Given the description of an element on the screen output the (x, y) to click on. 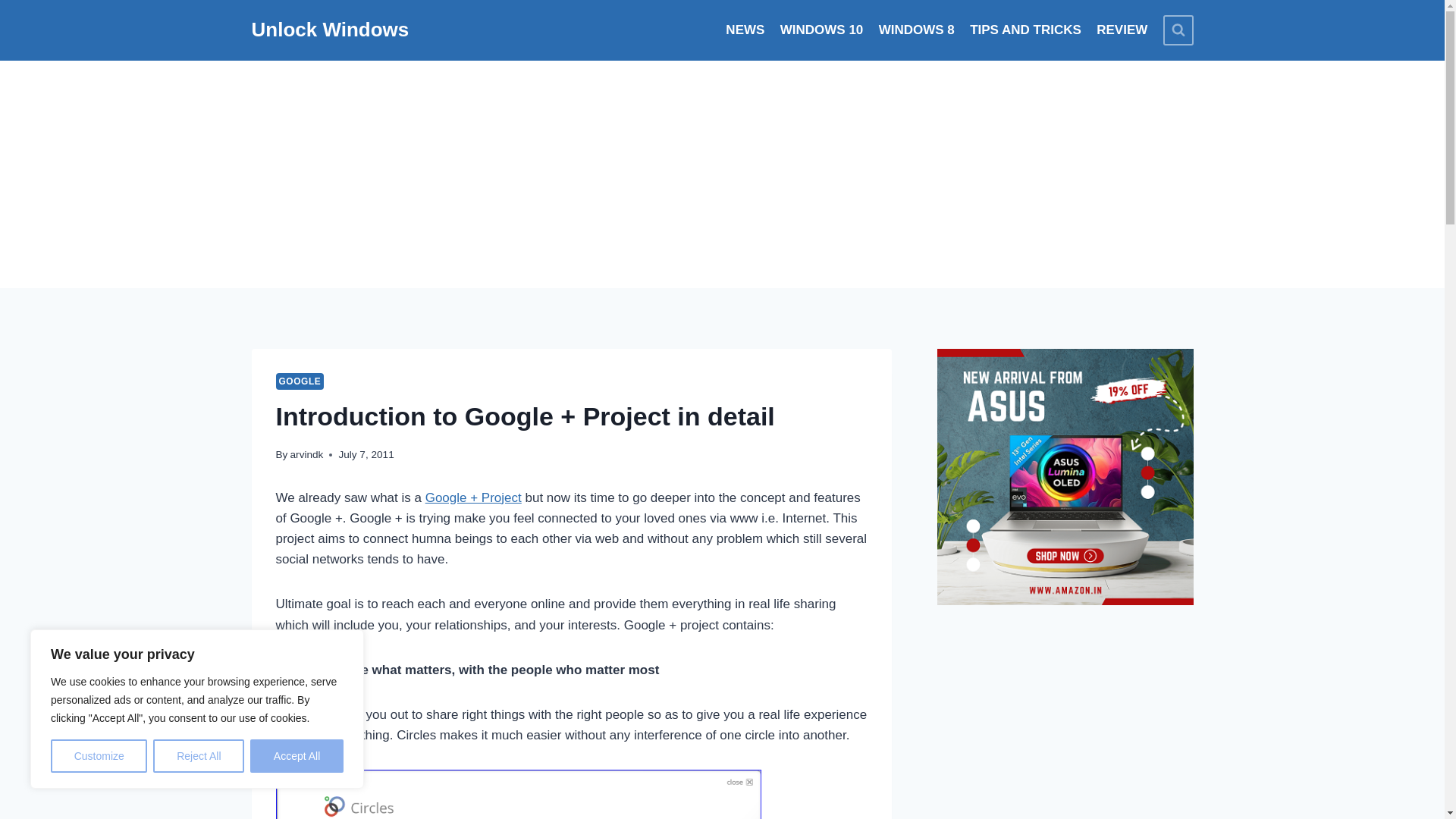
GOOGLE (300, 381)
REVIEW (1121, 30)
arvindk (306, 454)
Customize (98, 756)
WINDOWS 10 (821, 30)
Accept All (296, 756)
Unlock Windows (330, 29)
TIPS AND TRICKS (1025, 30)
Reject All (198, 756)
